Given the description of an element on the screen output the (x, y) to click on. 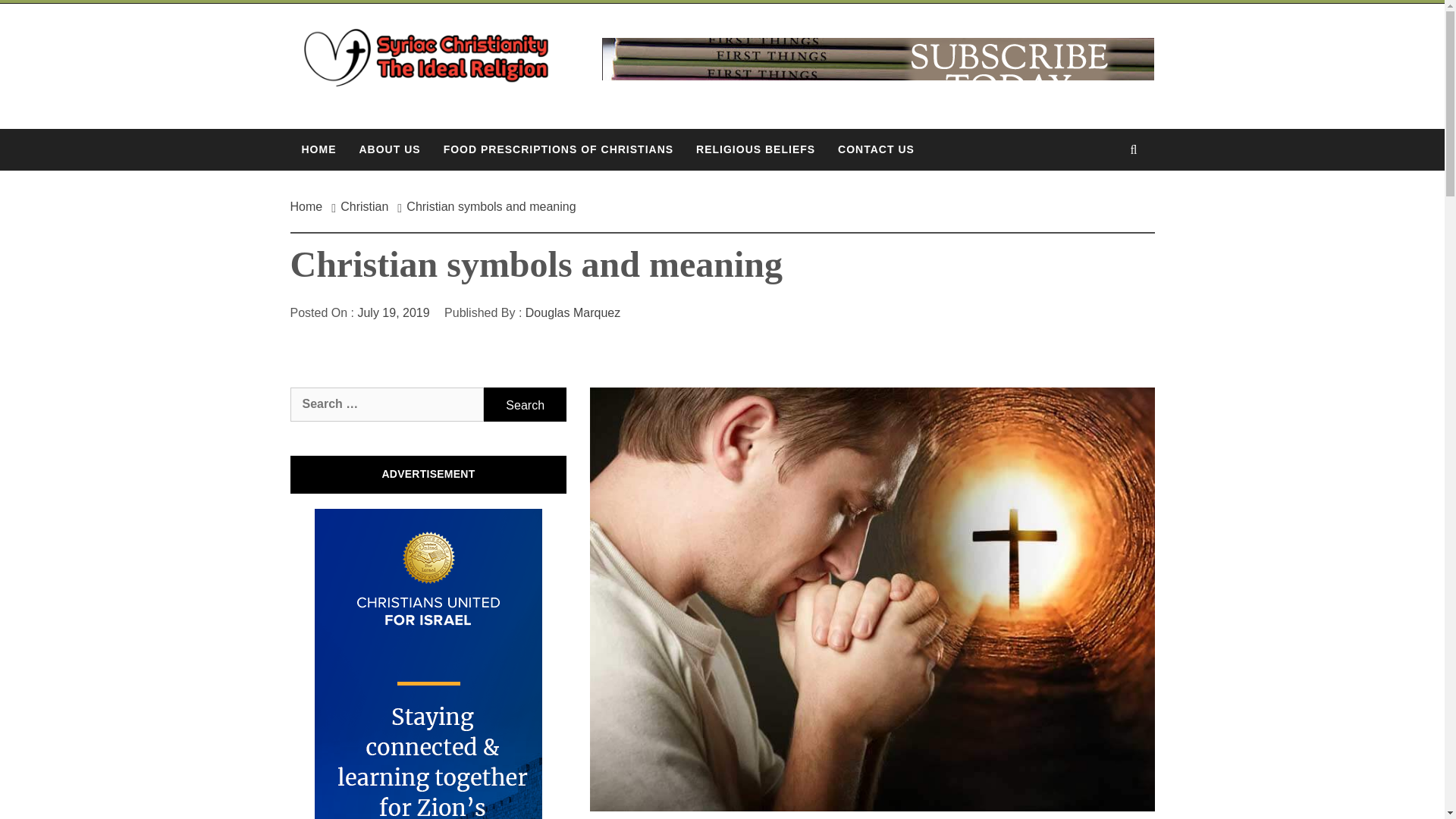
FOOD PRESCRIPTIONS OF CHRISTIANS (558, 149)
HOME (318, 149)
Search (524, 404)
Douglas Marquez (572, 312)
Christian symbols and meaning (491, 205)
Search (797, 37)
ABOUT US (388, 149)
July 19, 2019 (392, 312)
Search (524, 404)
Christian (364, 205)
